Given the description of an element on the screen output the (x, y) to click on. 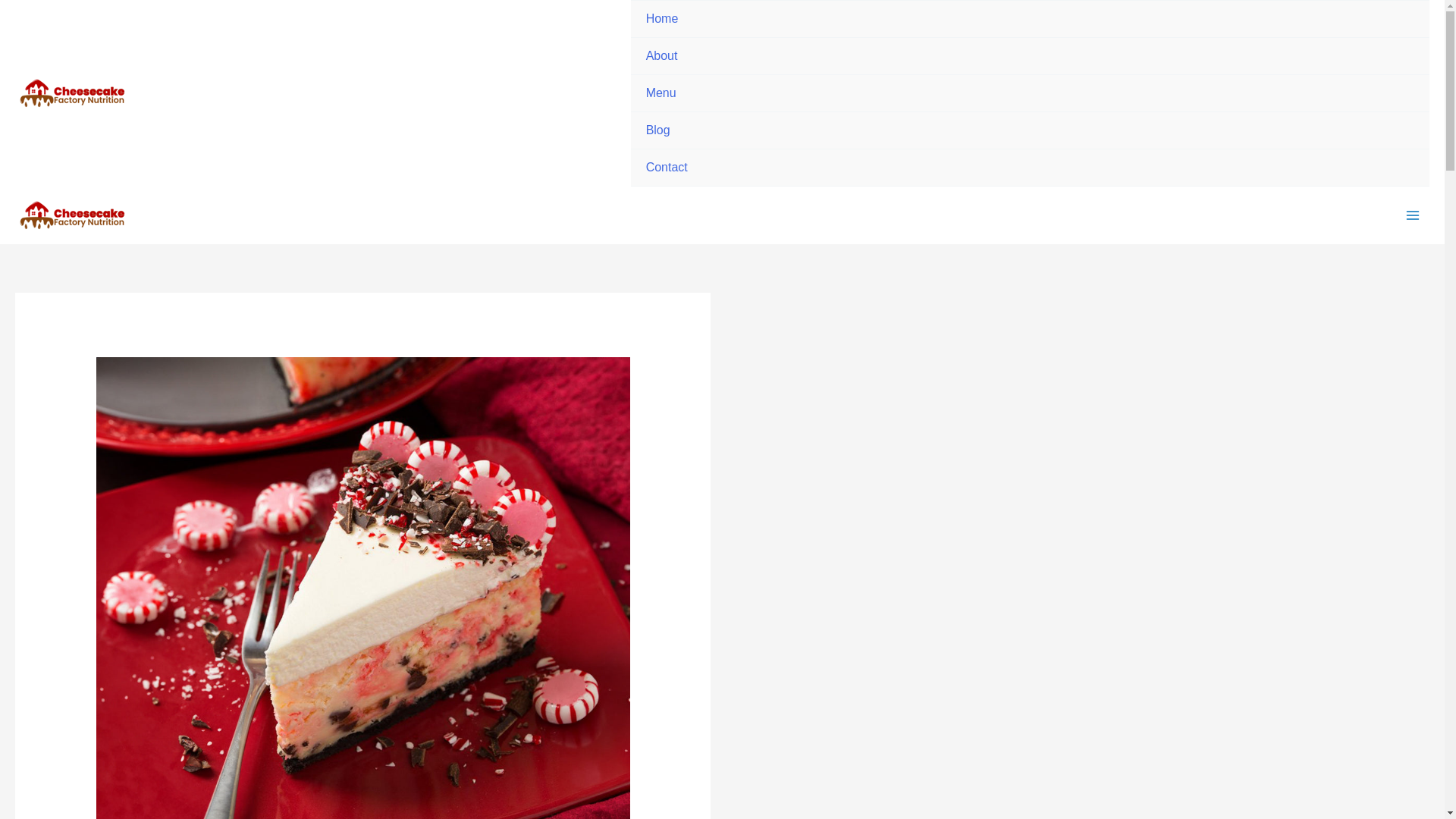
Contact (1029, 167)
Main Menu (1412, 215)
About (1029, 56)
Blog (1029, 130)
Menu (1029, 93)
Home (1029, 18)
